Given the description of an element on the screen output the (x, y) to click on. 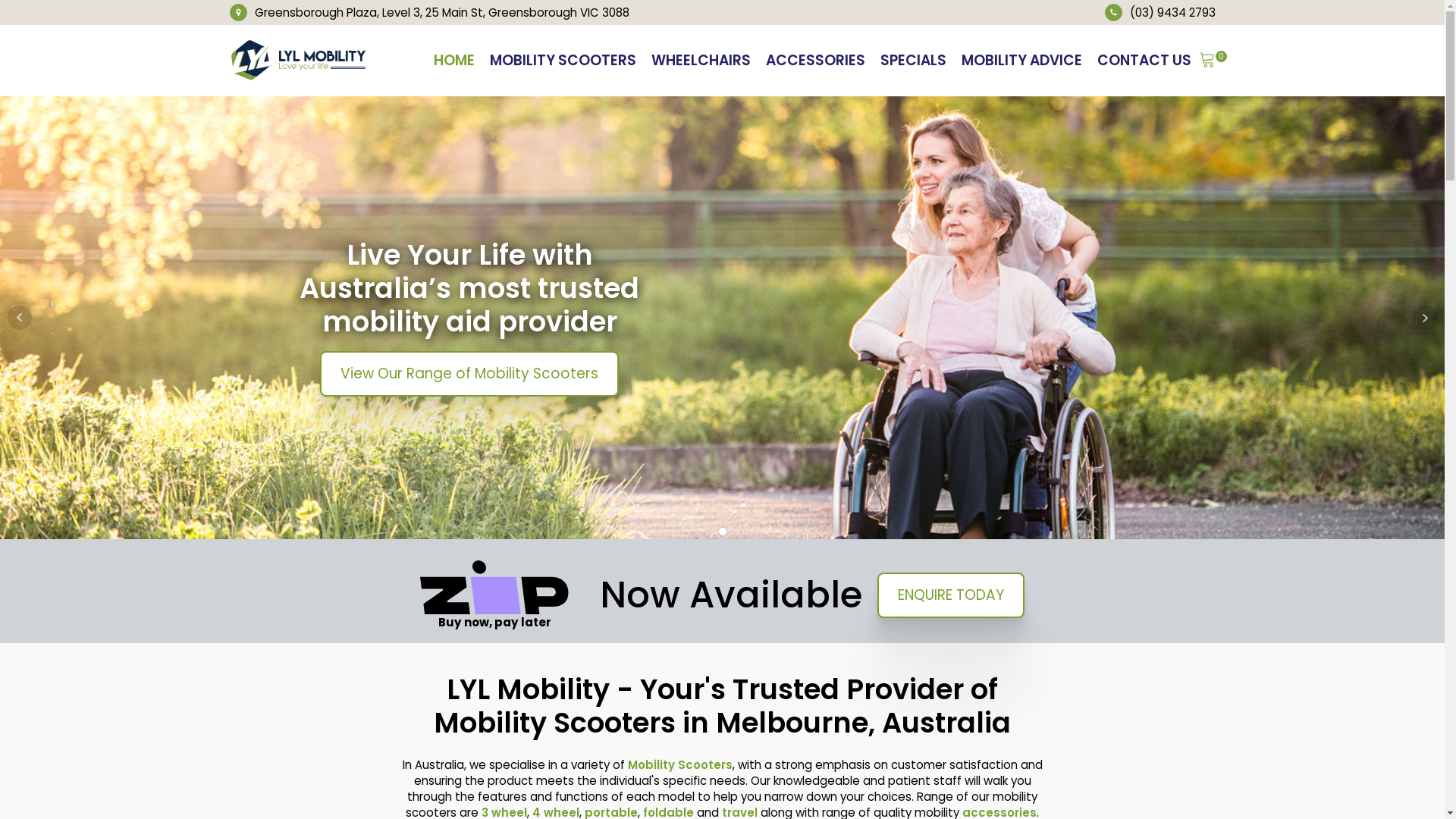
HOME Element type: text (454, 60)
0 Element type: text (1206, 60)
MOBILITY ADVICE Element type: text (1021, 60)
ACCESSORIES Element type: text (815, 60)
SPECIALS Element type: text (912, 60)
Next Element type: text (1424, 317)
ENQUIRE TODAY Element type: text (950, 595)
Mobility Scooters Element type: text (679, 764)
WHEELCHAIRS Element type: text (700, 60)
MOBILITY SCOOTERS Element type: text (562, 60)
View Our Range of Mobility Scooters Element type: text (469, 373)
(03) 9434 2793 Element type: text (1172, 12)
Prev Element type: text (19, 317)
CONTACT US Element type: text (1143, 60)
